Given the description of an element on the screen output the (x, y) to click on. 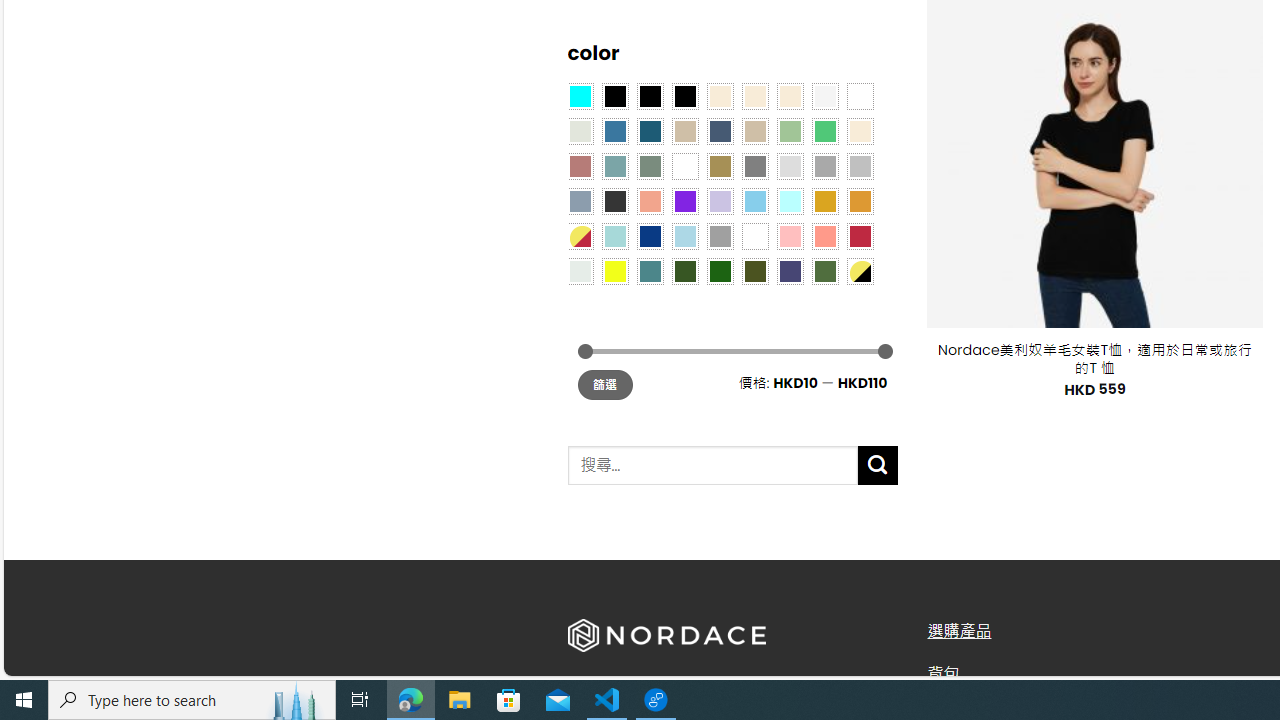
Cream (789, 95)
